Given the description of an element on the screen output the (x, y) to click on. 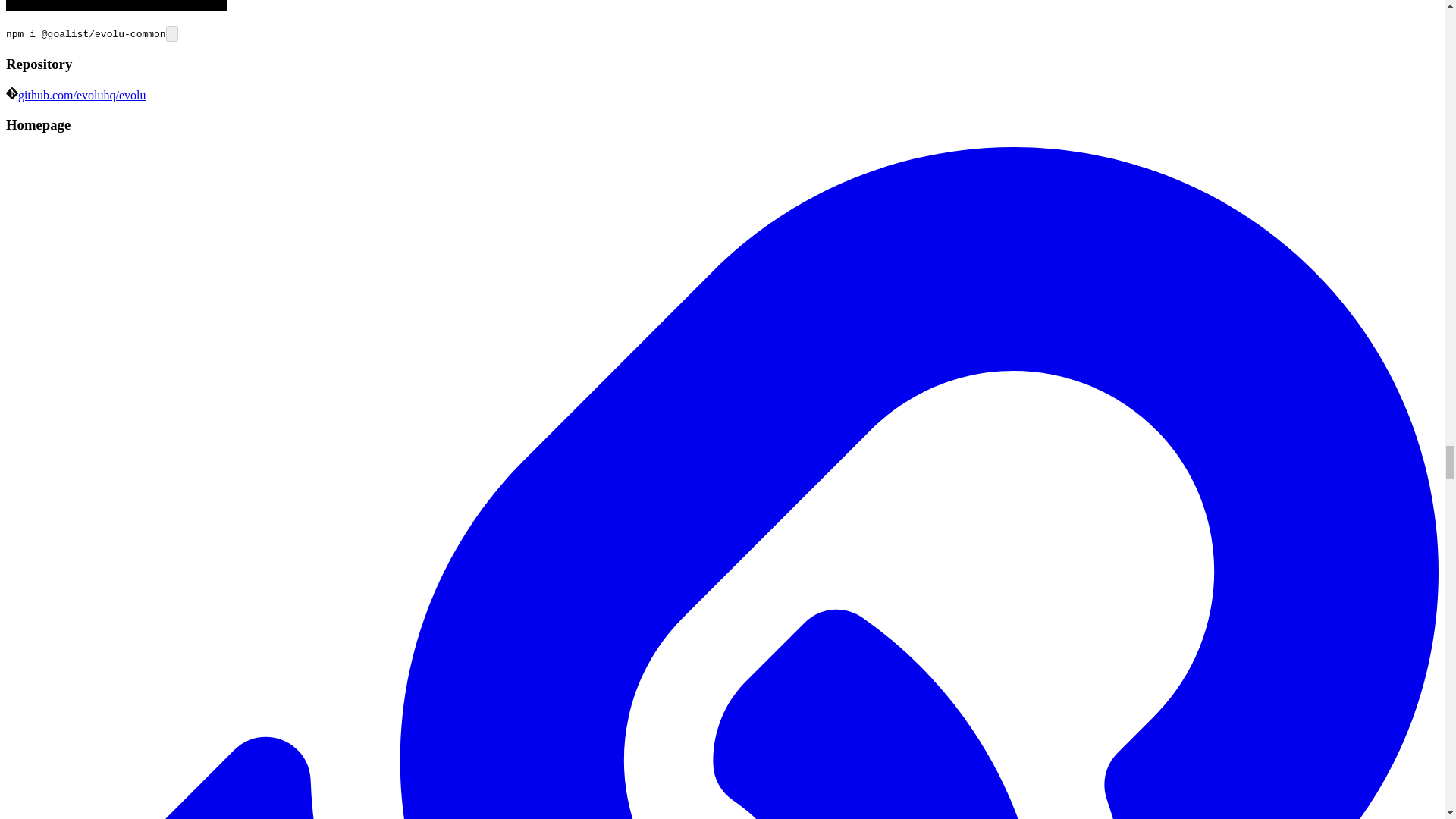
Git (11, 92)
